Given the description of an element on the screen output the (x, y) to click on. 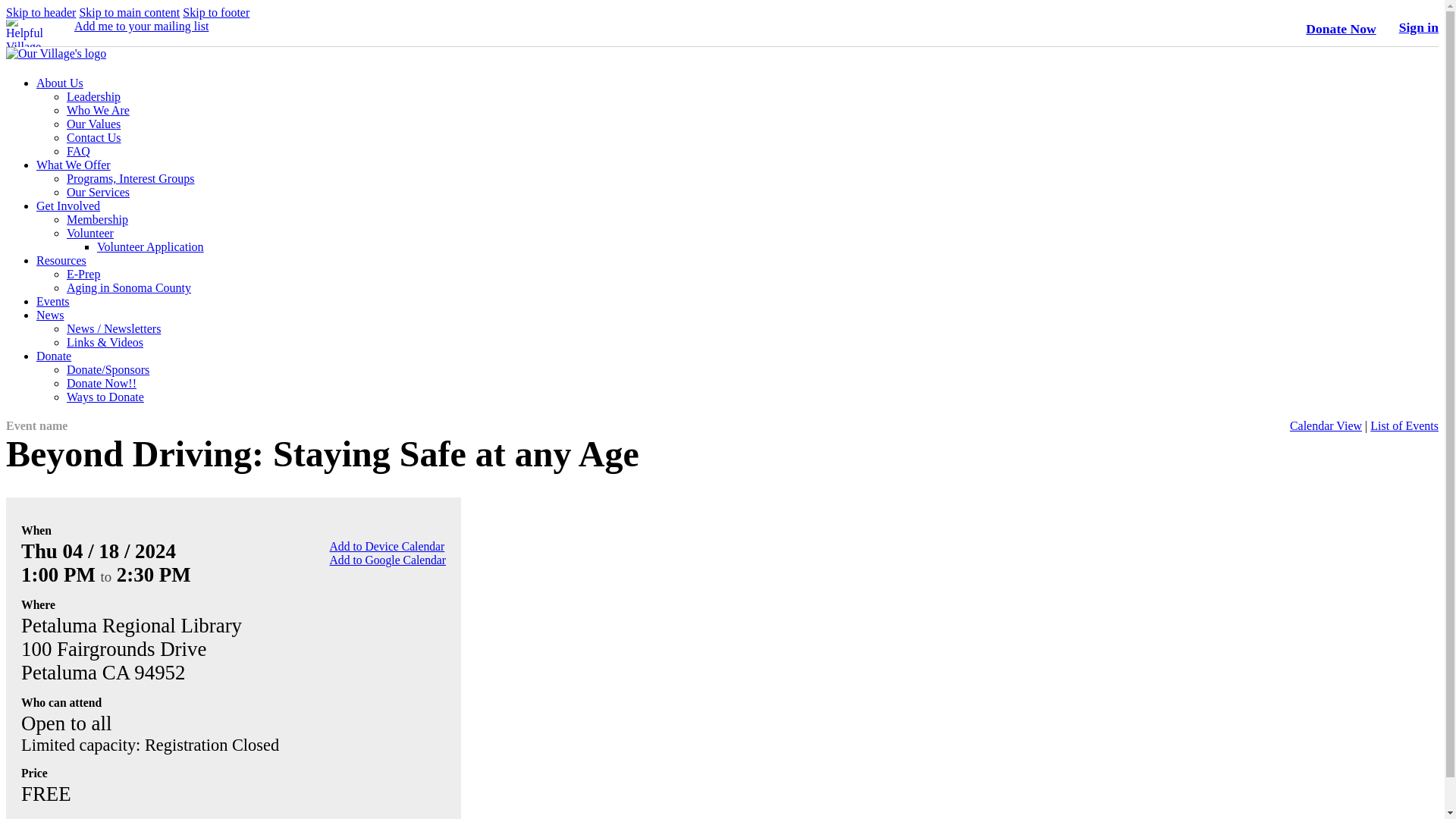
Add me to your mailing list (141, 25)
Programs, Interest Groups (129, 178)
Contact Us (93, 137)
Calendar View (1325, 425)
About Us (59, 82)
Add to Device Calendar (387, 545)
Donate Now!! (101, 382)
Volunteer Application (150, 246)
News (50, 314)
Volunteer (89, 232)
Donate Now (1340, 28)
Get Involved (68, 205)
Skip to header (40, 11)
Membership (97, 219)
Leadership (93, 96)
